Given the description of an element on the screen output the (x, y) to click on. 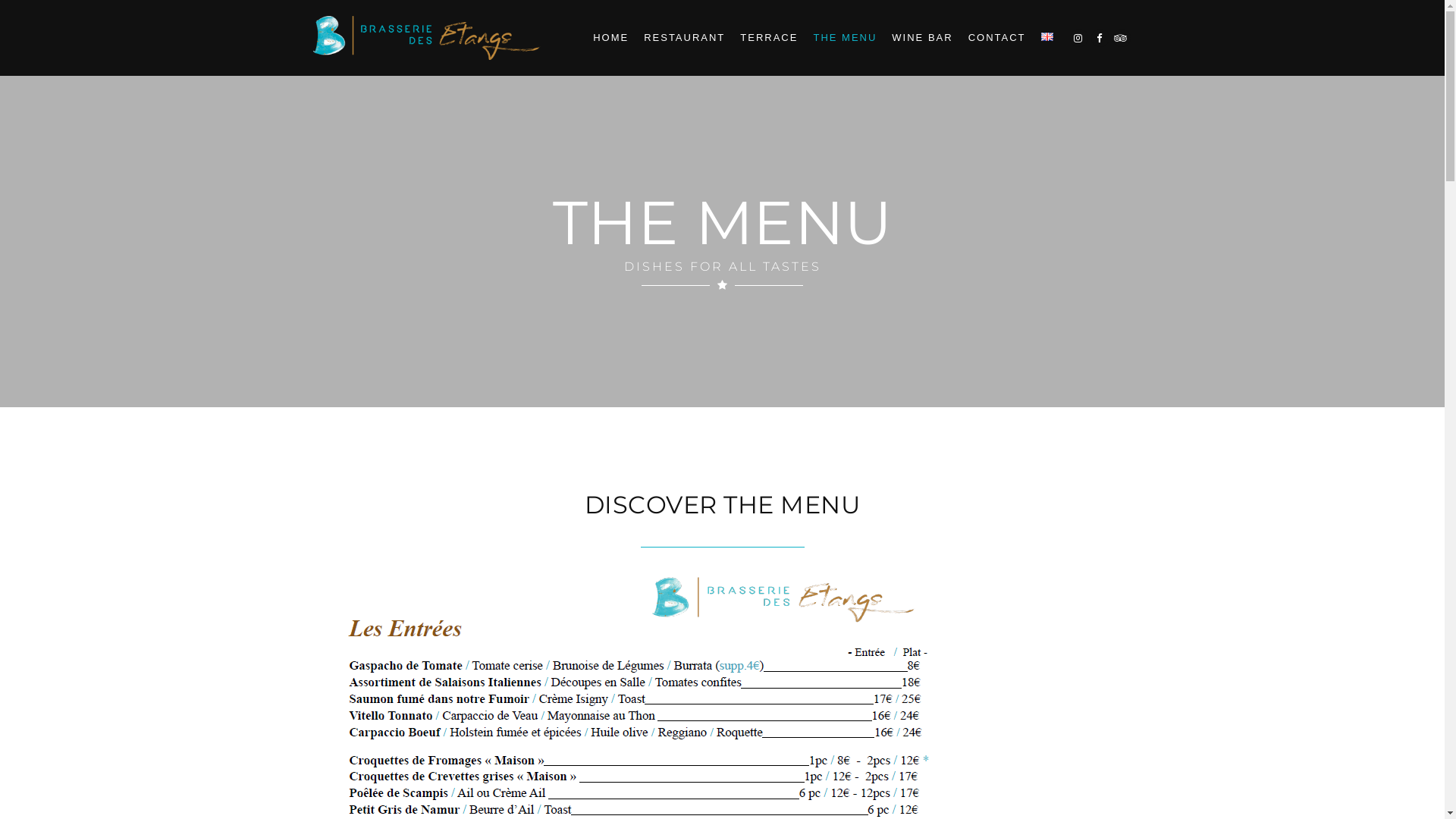
RESTAURANT Element type: text (683, 37)
HOME Element type: text (610, 37)
CONTACT Element type: text (997, 37)
THE MENU Element type: text (844, 37)
WINE BAR Element type: text (921, 37)
TERRACE Element type: text (768, 37)
